Given the description of an element on the screen output the (x, y) to click on. 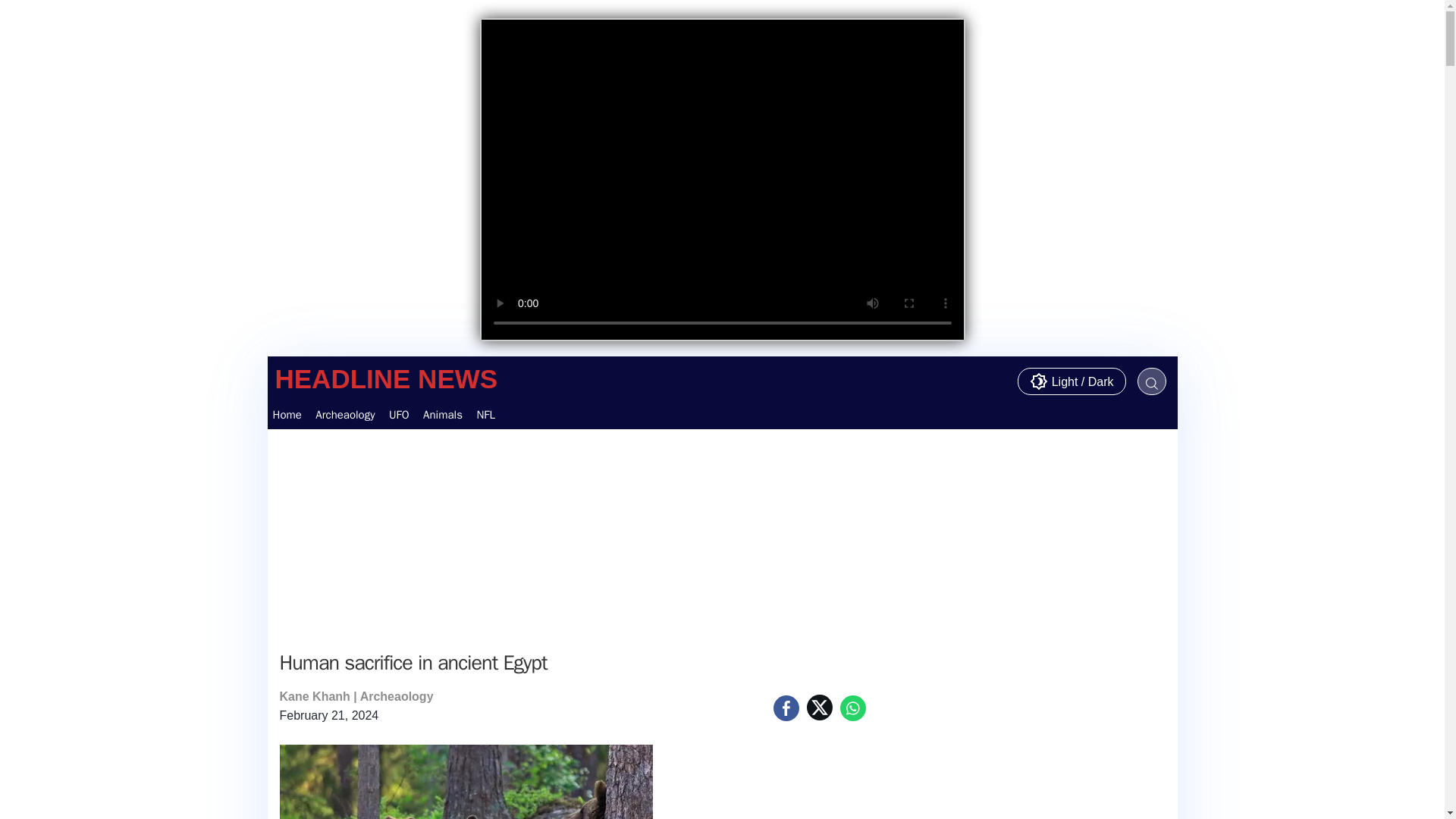
Animals (442, 414)
Archeaology (396, 696)
UFO (399, 414)
Share  twitter (819, 707)
Advertisement (571, 535)
Share  facebook (786, 708)
Home (285, 414)
WhatsApp (853, 708)
Archeaology (345, 414)
